Given the description of an element on the screen output the (x, y) to click on. 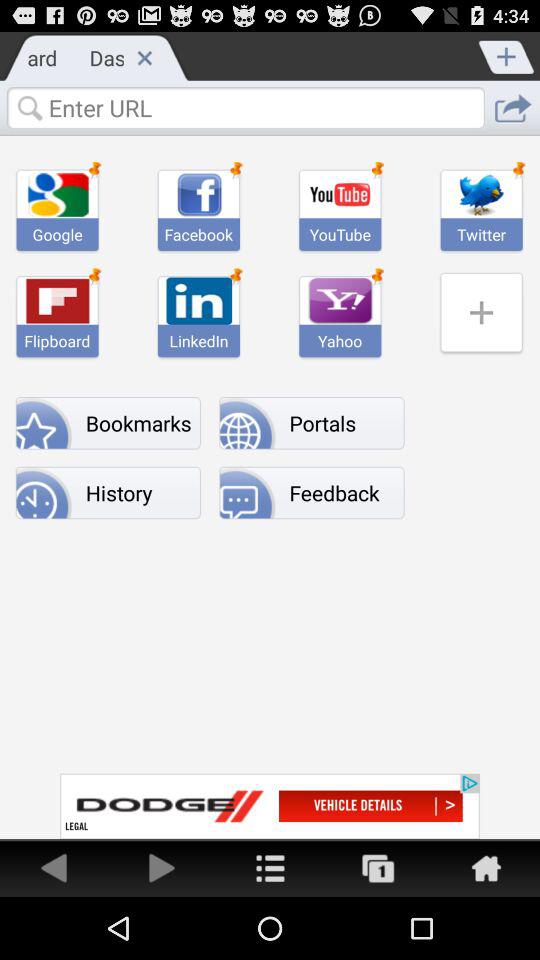
go to url (512, 107)
